Given the description of an element on the screen output the (x, y) to click on. 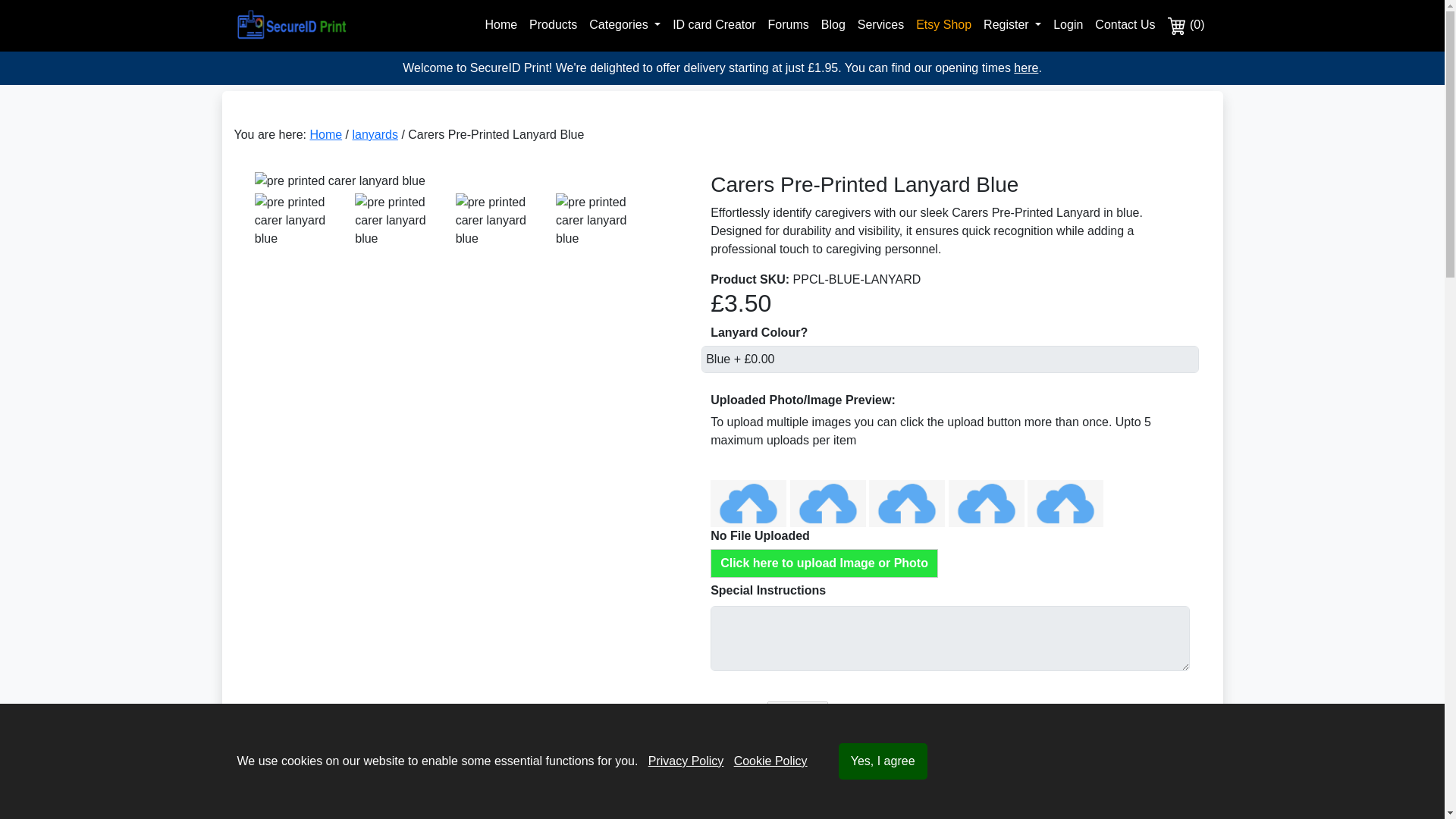
1 (797, 716)
Contact Us (1124, 24)
lanyards (374, 133)
Products (552, 24)
Register (1011, 24)
ADD TO CART (949, 770)
Services (880, 24)
Home (325, 133)
Forums (788, 24)
Etsy Shop (943, 24)
here (1025, 67)
ID card Creator (713, 24)
Blog (833, 24)
Login (1067, 24)
Home (500, 24)
